Given the description of an element on the screen output the (x, y) to click on. 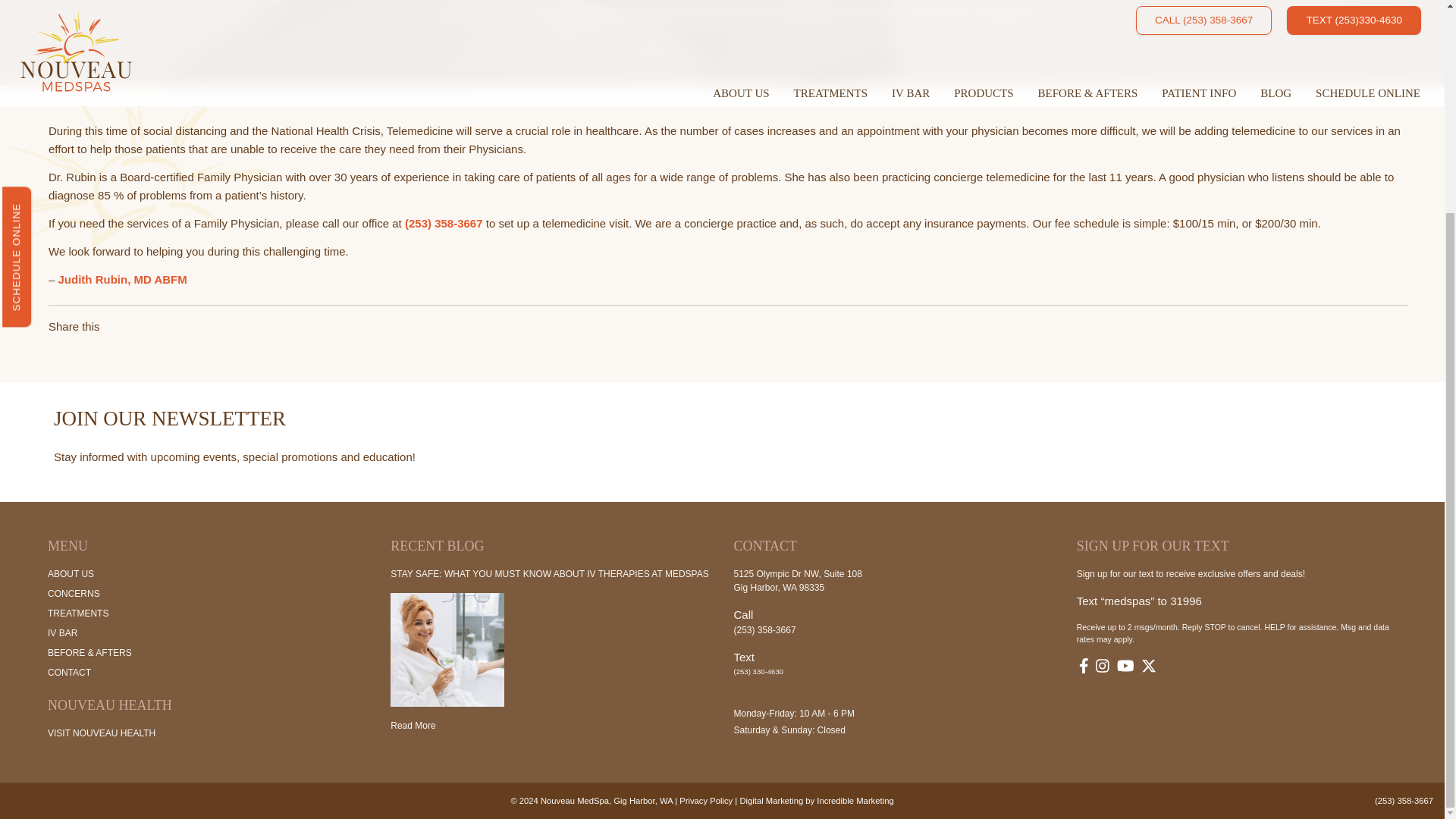
youtube (1125, 667)
